Given the description of an element on the screen output the (x, y) to click on. 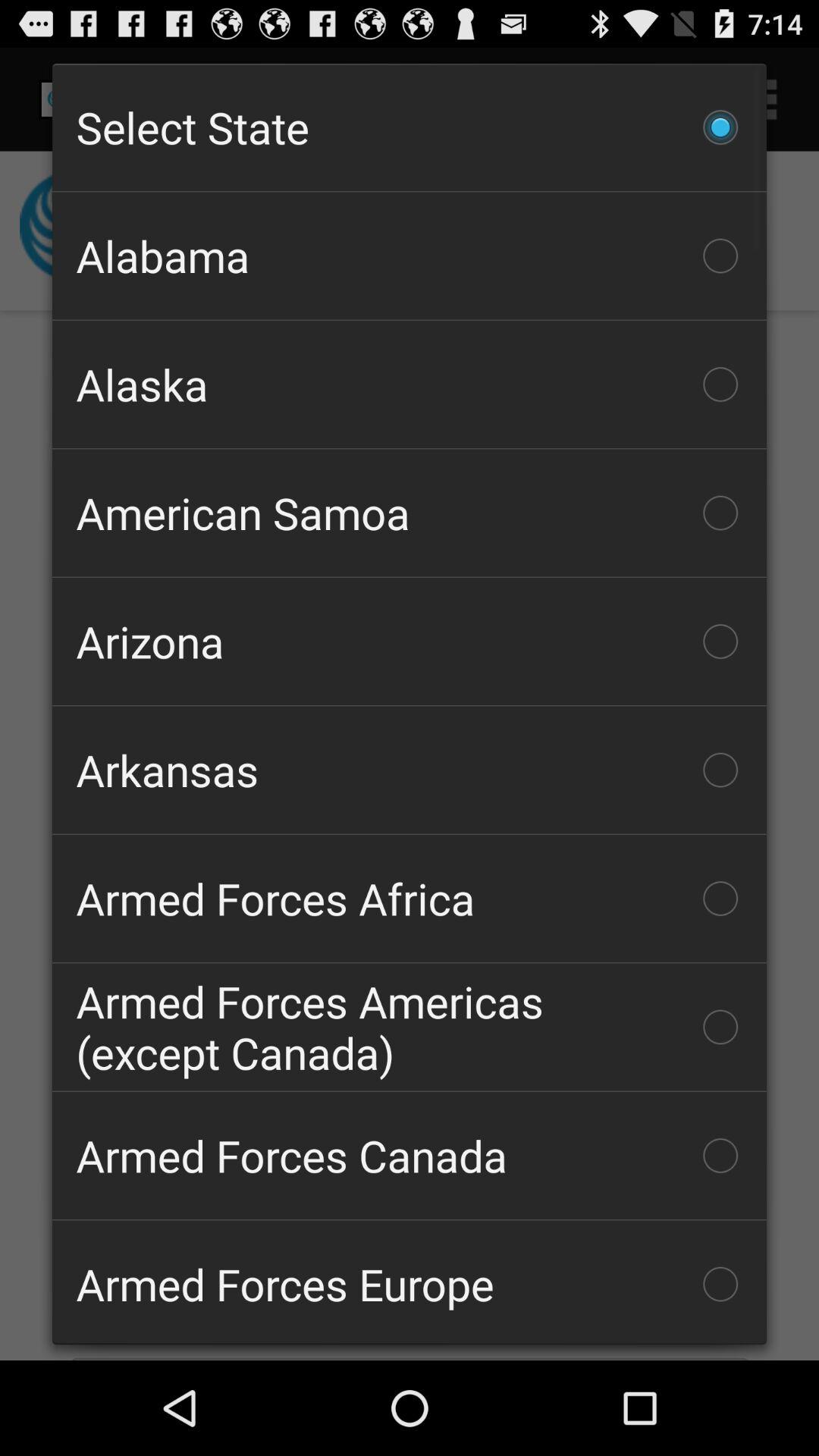
flip until the arizona (409, 641)
